Given the description of an element on the screen output the (x, y) to click on. 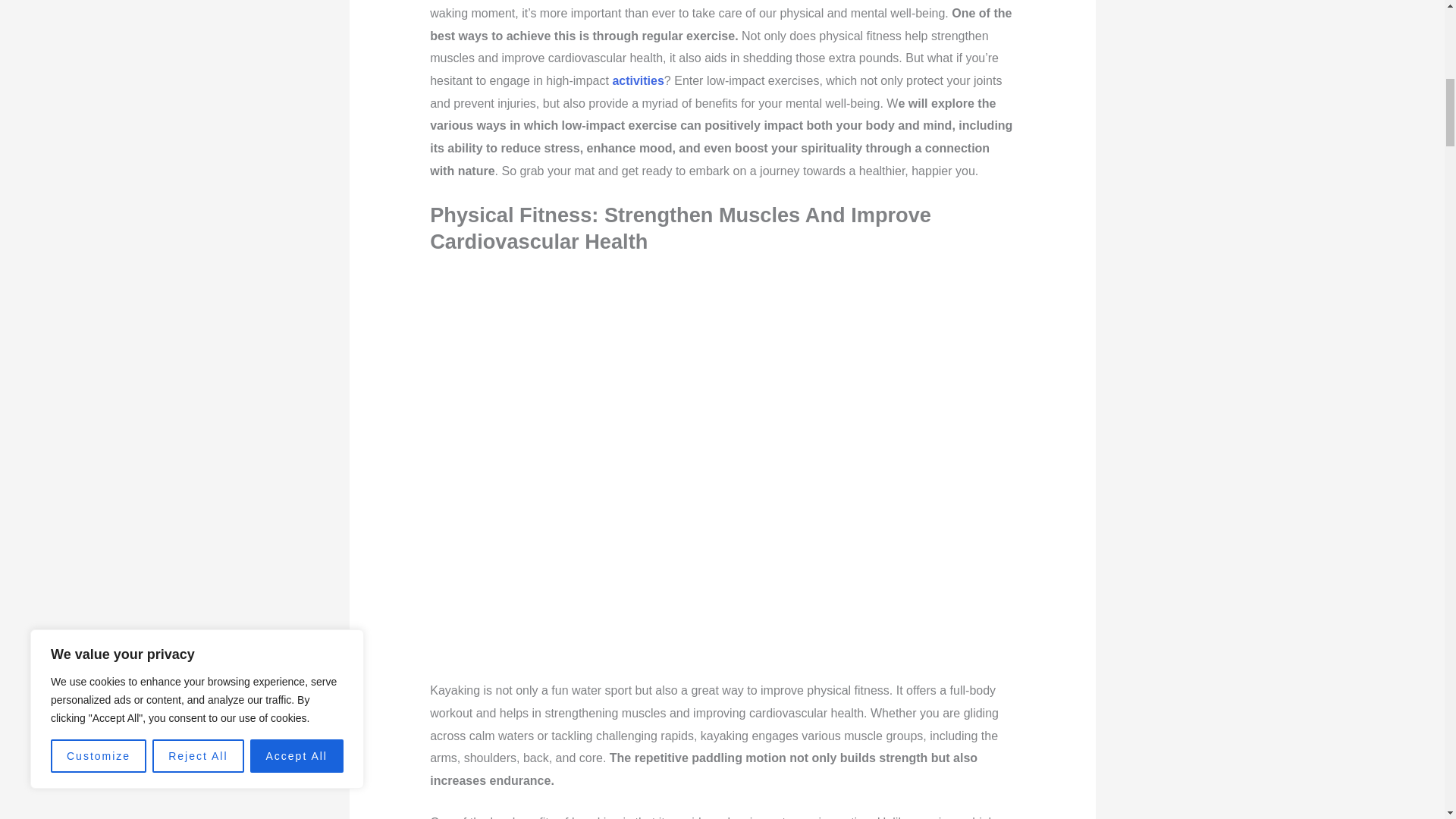
activities (637, 80)
